Given the description of an element on the screen output the (x, y) to click on. 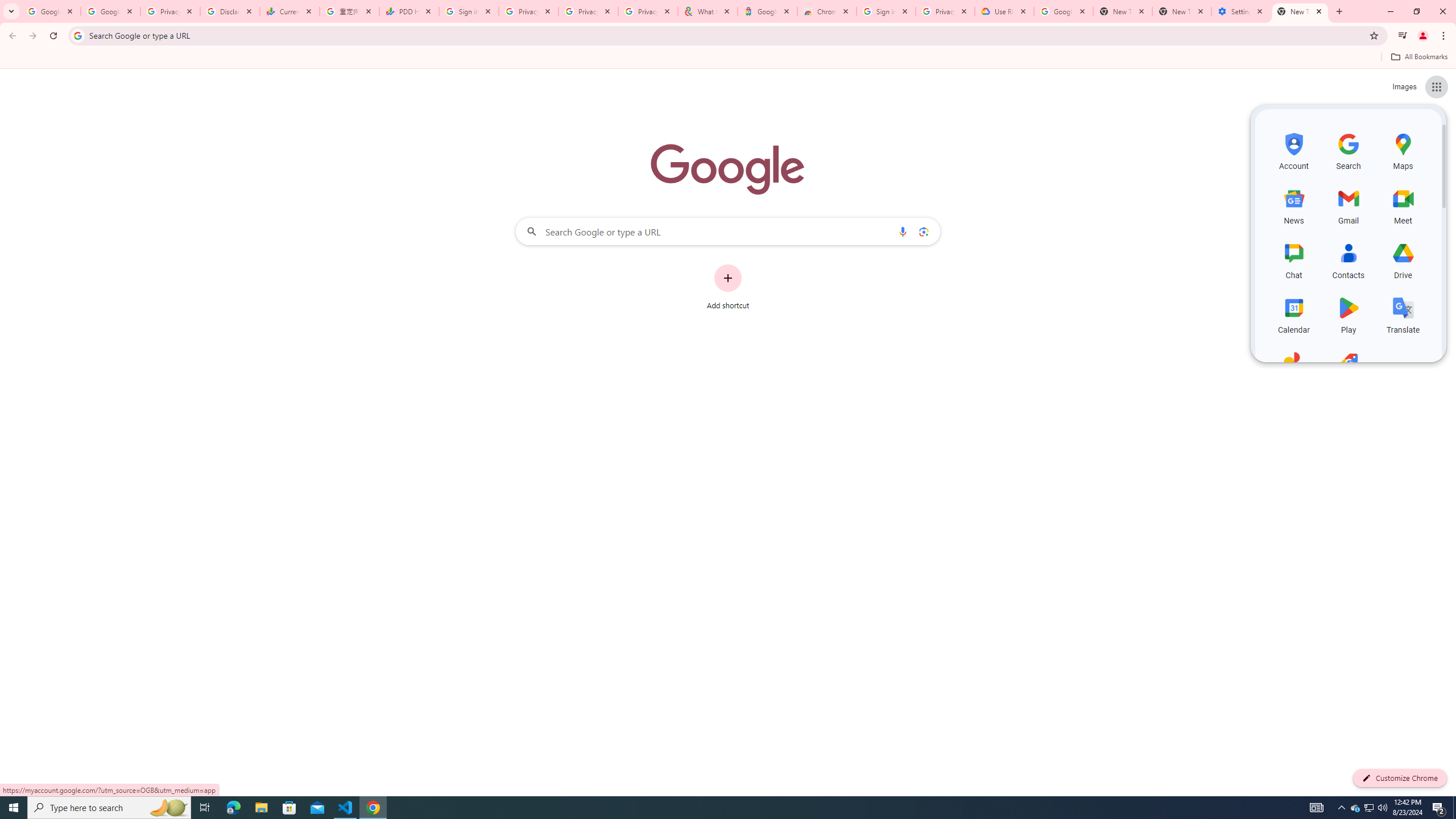
Maps, row 1 of 5 and column 3 of 3 in the first section (1402, 149)
Google Workspace Admin Community (50, 11)
Meet, row 2 of 5 and column 3 of 3 in the first section (1402, 204)
